Given the description of an element on the screen output the (x, y) to click on. 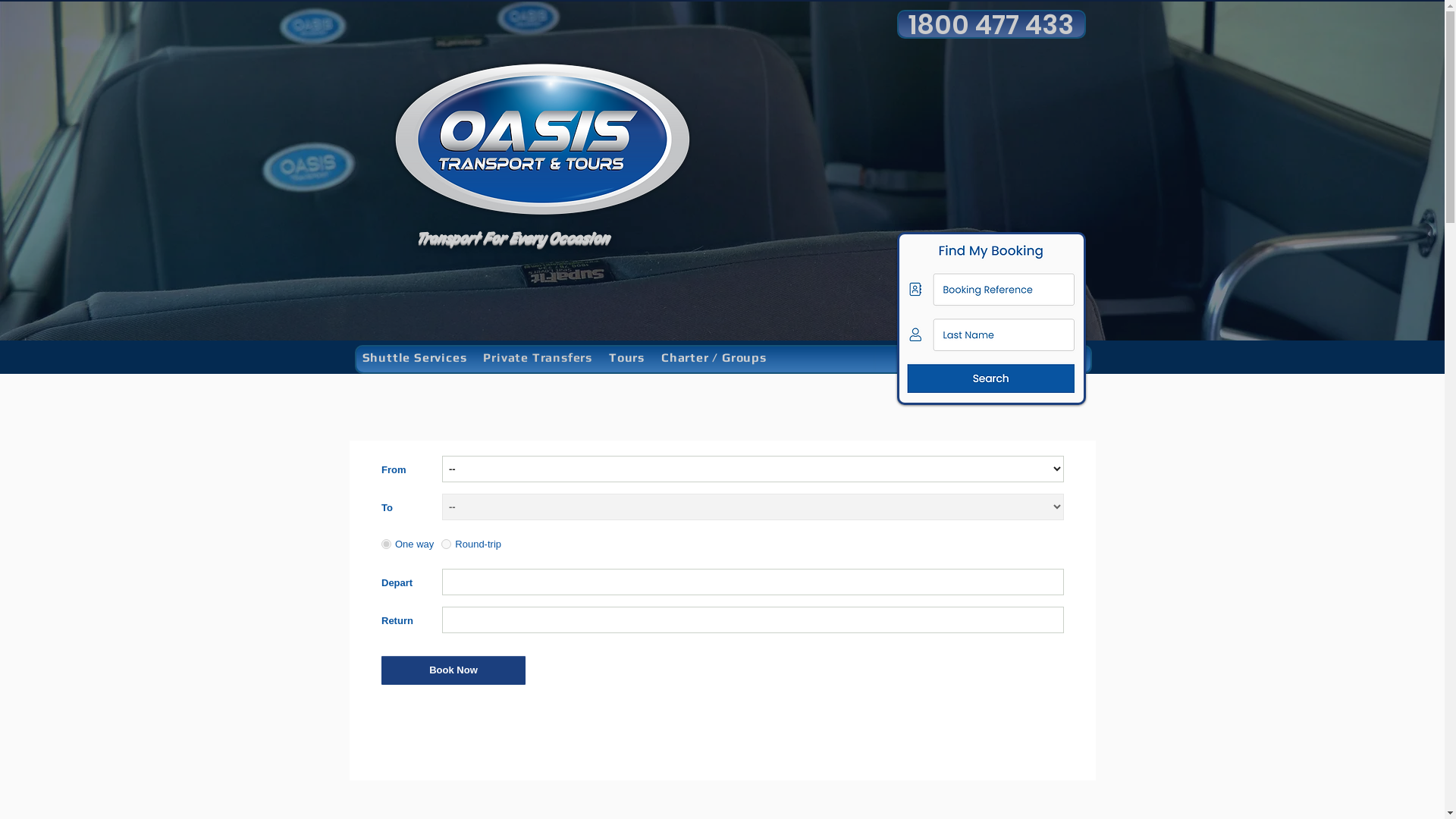
Tours Element type: text (626, 356)
Embedded Content Element type: hover (721, 610)
1800 477 433 Element type: text (990, 23)
Shuttle Services Element type: text (413, 356)
Private Transfers Element type: text (537, 356)
Charter / Groups Element type: text (713, 356)
